Given the description of an element on the screen output the (x, y) to click on. 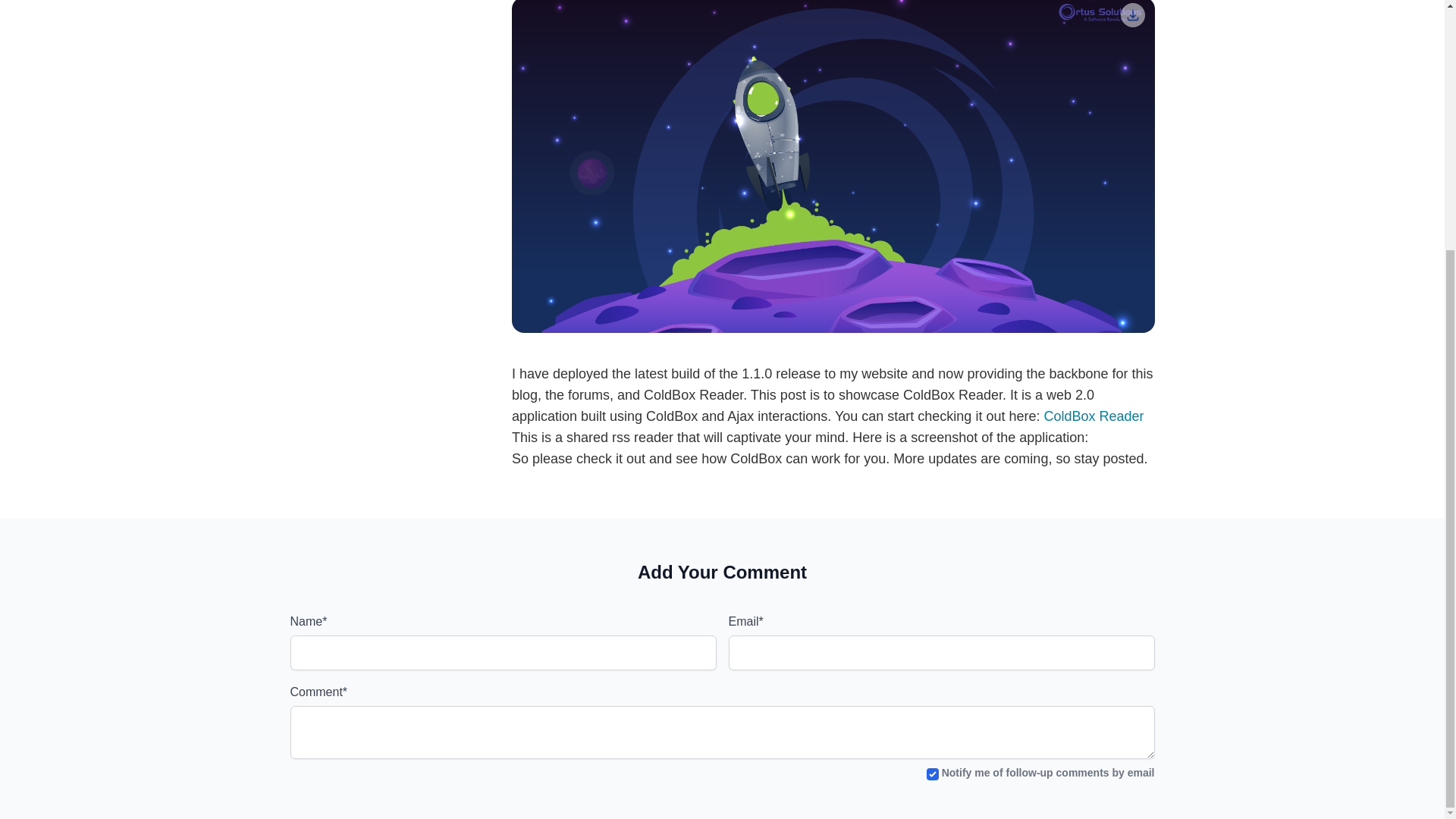
true (932, 774)
ColdBox Reader (1092, 416)
Download (1132, 15)
